Given the description of an element on the screen output the (x, y) to click on. 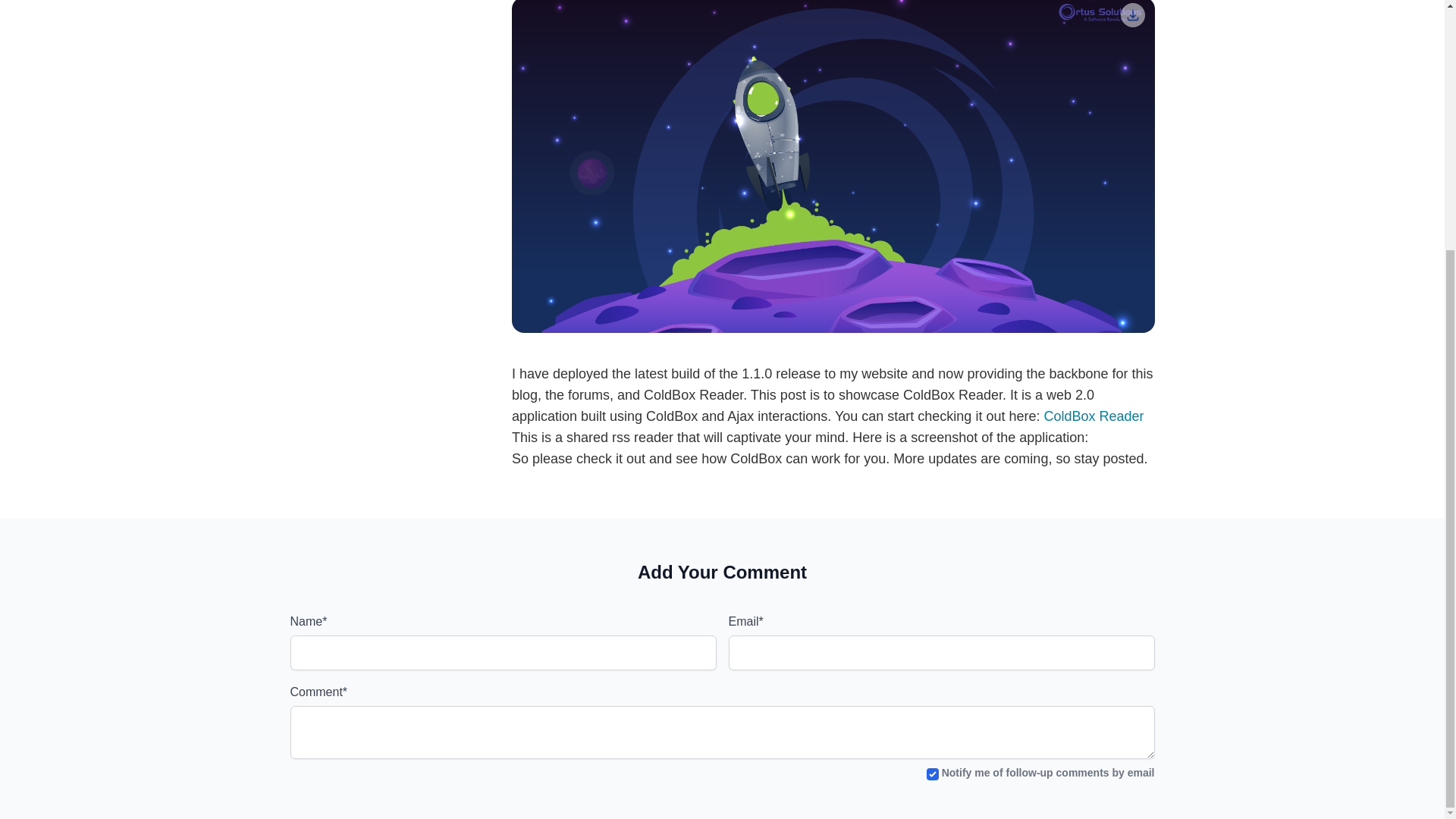
true (932, 774)
ColdBox Reader (1092, 416)
Download (1132, 15)
